Given the description of an element on the screen output the (x, y) to click on. 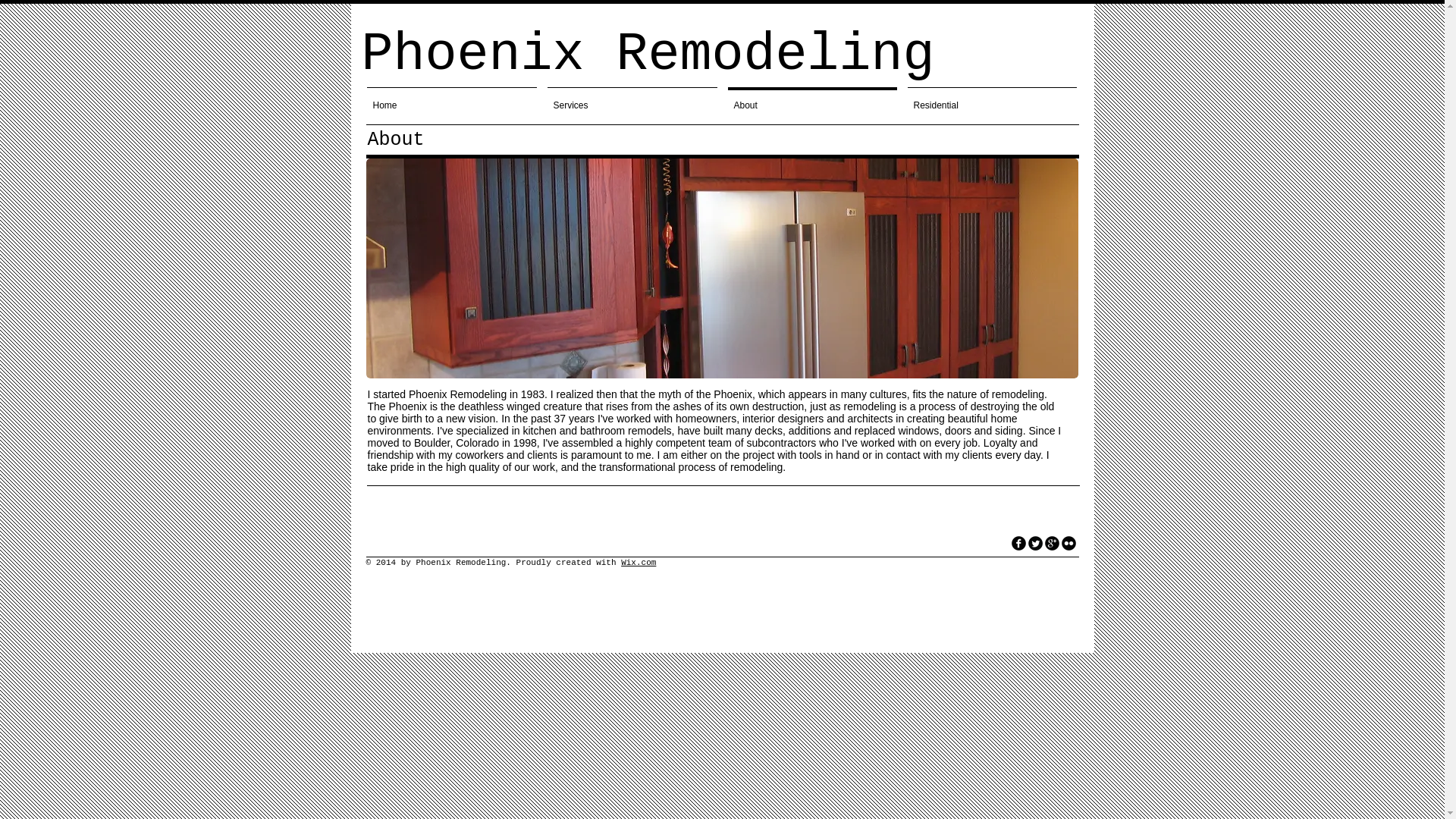
Home (451, 97)
Wix.com (638, 562)
About (811, 97)
Residential (991, 97)
Services (631, 97)
